Given the description of an element on the screen output the (x, y) to click on. 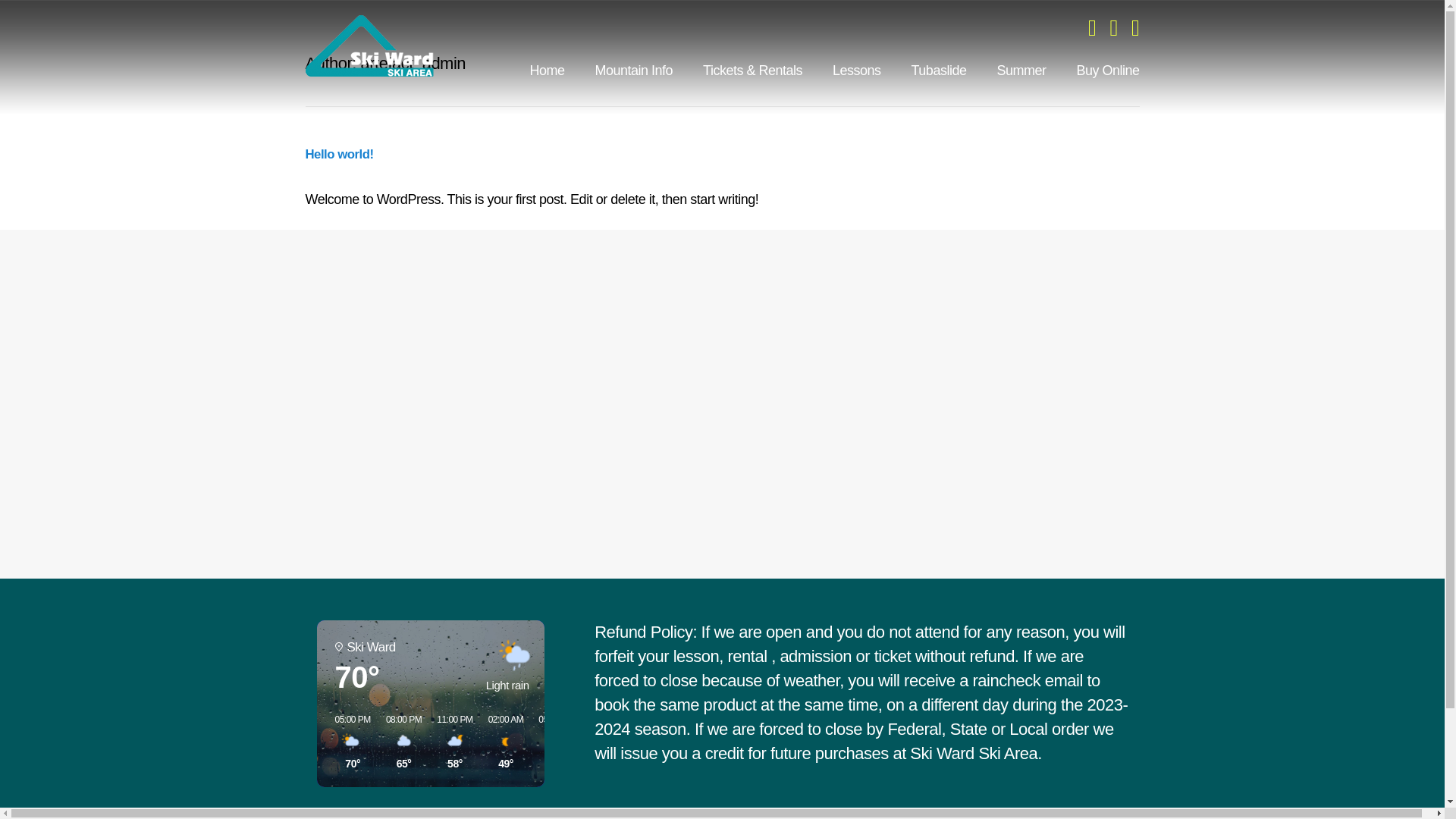
Lessons (841, 70)
Ski Ward (368, 45)
Mountain Info (618, 70)
Home (531, 70)
Summer (1005, 70)
Ski Ward (368, 45)
Tubaslide (923, 70)
